Given the description of an element on the screen output the (x, y) to click on. 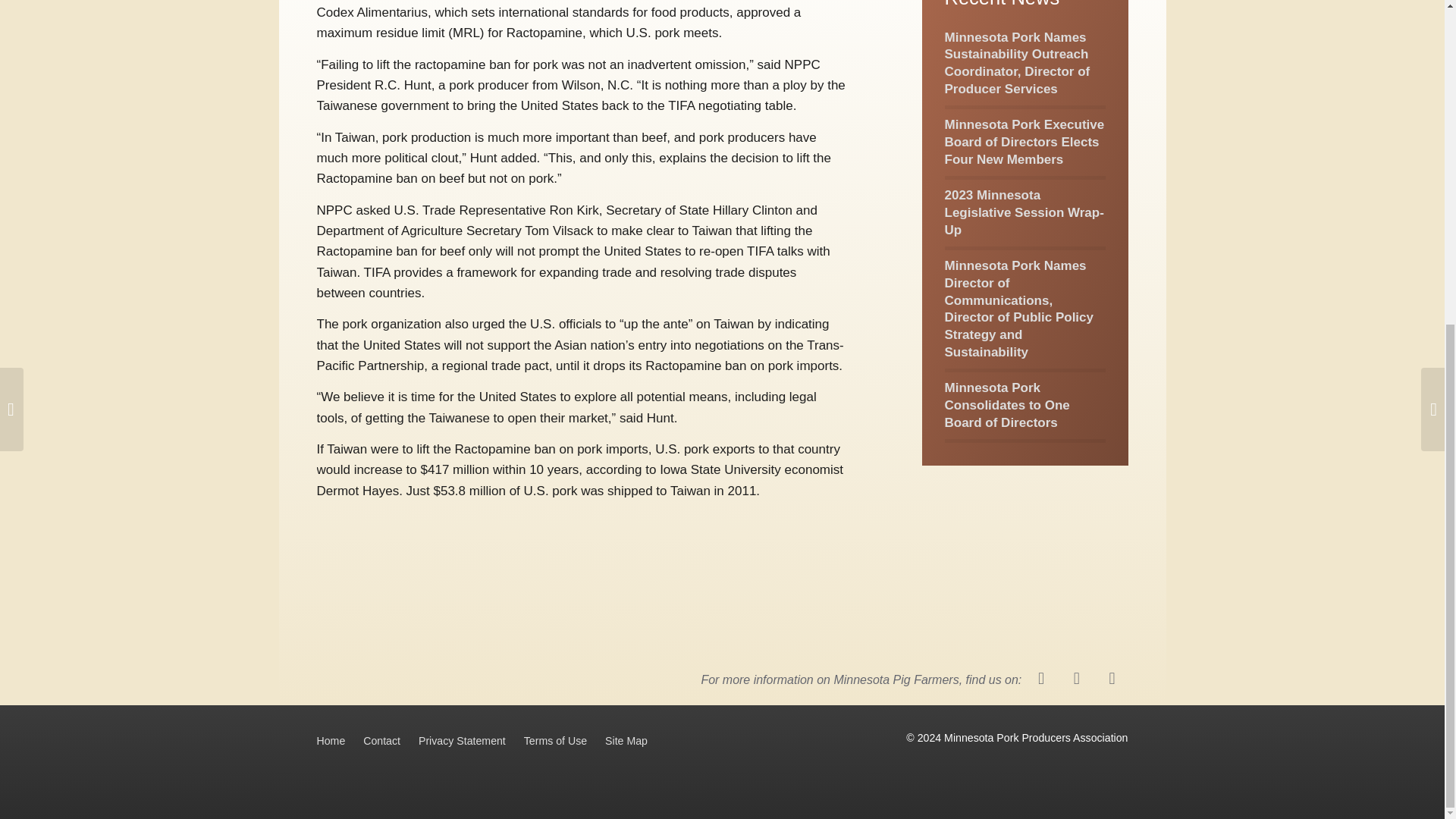
Minnesota Pork Consolidates to One Board of Directors (1007, 404)
2023 Minnesota Legislative Session Wrap-Up (1023, 212)
